Given the description of an element on the screen output the (x, y) to click on. 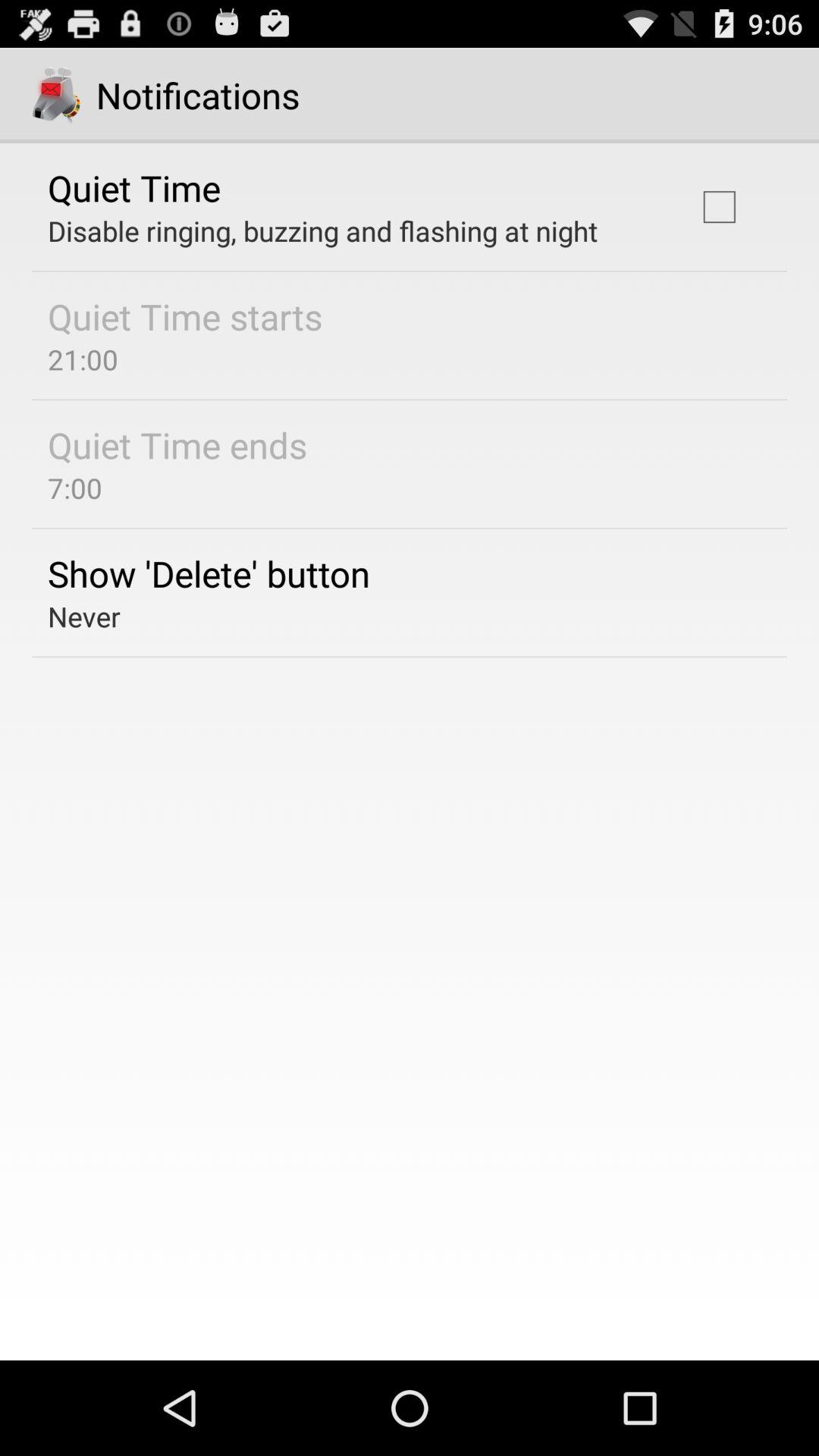
tap the icon below quiet time (322, 230)
